Given the description of an element on the screen output the (x, y) to click on. 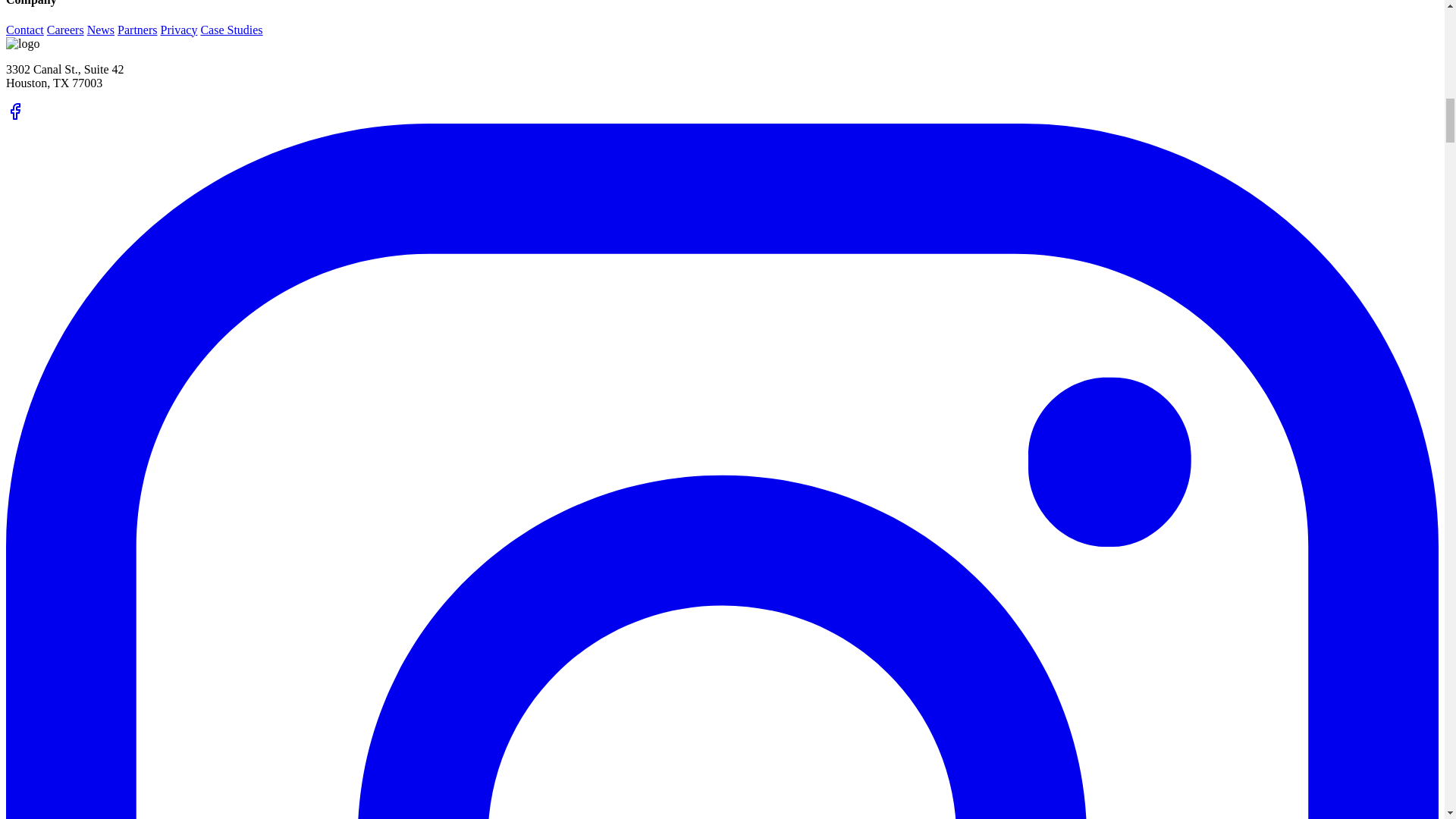
Privacy (179, 29)
News (101, 29)
Case Studies (231, 29)
Careers (65, 29)
Partners (137, 29)
Contact (24, 29)
facebook (14, 115)
